Given the description of an element on the screen output the (x, y) to click on. 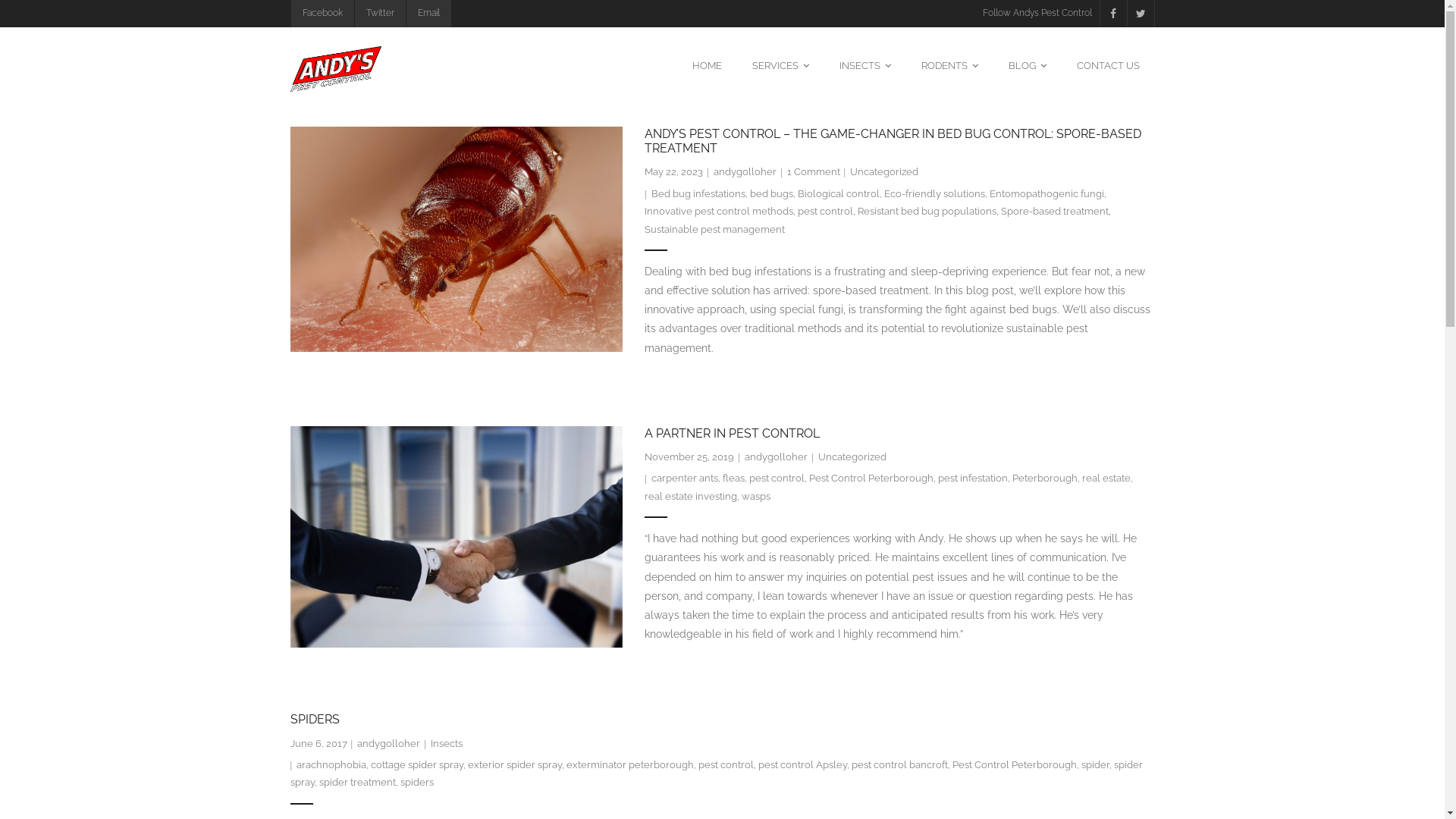
fleas Element type: text (733, 477)
wasps Element type: text (755, 496)
CONTACT US Element type: text (1107, 65)
andygolloher Element type: text (388, 743)
spider treatment Element type: text (356, 781)
1 Comment Element type: text (813, 171)
pest control Element type: text (776, 477)
carpenter ants Element type: text (684, 477)
A PARTNER IN PEST CONTROL Element type: text (731, 433)
andygolloher Element type: text (775, 456)
Resistant bed bug populations Element type: text (926, 210)
real estate Element type: text (1106, 477)
bed bugs Element type: text (771, 193)
Pest Control Peterborough Element type: text (1014, 764)
exterminator peterborough Element type: text (629, 764)
SPIDERS Element type: text (313, 719)
Insects Element type: text (446, 743)
pest infestation Element type: text (972, 477)
Biological control Element type: text (838, 193)
Spore-based treatment Element type: text (1054, 210)
pest control Element type: text (725, 764)
May 22, 2023 Element type: text (673, 171)
Uncategorized Element type: text (852, 456)
Facebook Element type: text (321, 13)
BLOG Element type: text (1027, 65)
November 25, 2019 Element type: text (689, 456)
Twitter Element type: text (378, 13)
spiders Element type: text (416, 781)
Pest Control Peterborough Element type: text (871, 477)
Innovative pest control methods Element type: text (718, 210)
Eco-friendly solutions Element type: text (934, 193)
June 6, 2017 Element type: text (317, 743)
Uncategorized Element type: text (884, 171)
SERVICES Element type: text (780, 65)
spider Element type: text (1095, 764)
Search Element type: text (35, 16)
andygolloher Element type: text (744, 171)
real estate investing Element type: text (690, 496)
pest control bancroft Element type: text (899, 764)
RODENTS Element type: text (948, 65)
pest control Apsley Element type: text (802, 764)
INSECTS Element type: text (864, 65)
Sustainable pest management Element type: text (714, 229)
arachnophobia Element type: text (331, 764)
Entomopathogenic fungi Element type: text (1046, 193)
pest control Element type: text (825, 210)
exterior spider spray Element type: text (514, 764)
Bed bug infestations Element type: text (698, 193)
Peterborough Element type: text (1044, 477)
cottage spider spray Element type: text (416, 764)
spider spray Element type: text (715, 773)
HOME Element type: text (706, 65)
Email Element type: text (427, 13)
